Given the description of an element on the screen output the (x, y) to click on. 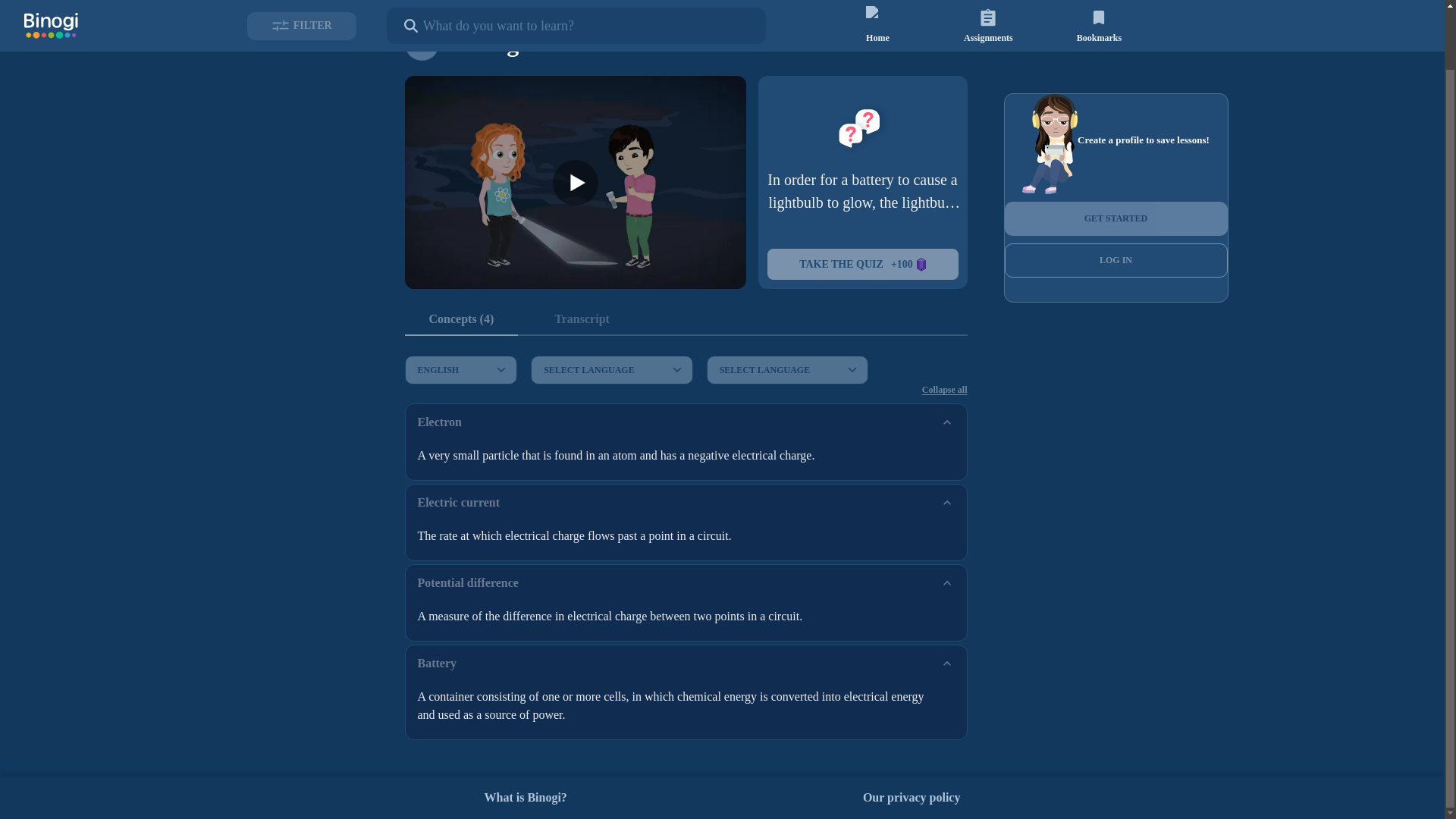
es (506, 378)
SELECT LANGUAGE (786, 369)
fr (506, 396)
Electron (685, 422)
sv (506, 435)
uk (506, 454)
ENGLISH (461, 369)
en (506, 358)
Collapse all (944, 389)
Transcript (581, 319)
de (506, 339)
LOG IN (1115, 260)
Electric current (685, 502)
GET STARTED (1115, 218)
Battery (685, 663)
